Given the description of an element on the screen output the (x, y) to click on. 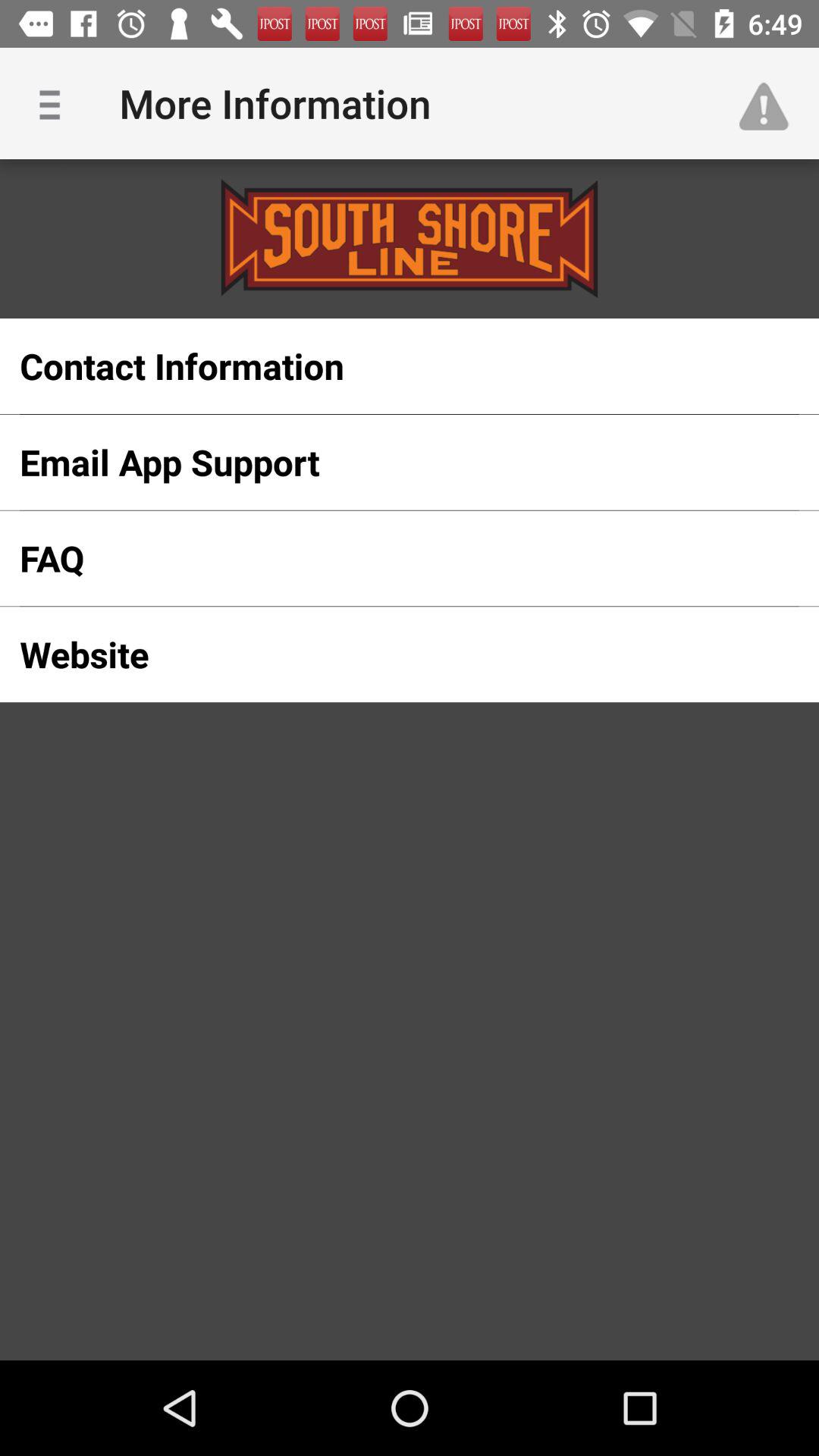
click icon below contact information icon (385, 462)
